Given the description of an element on the screen output the (x, y) to click on. 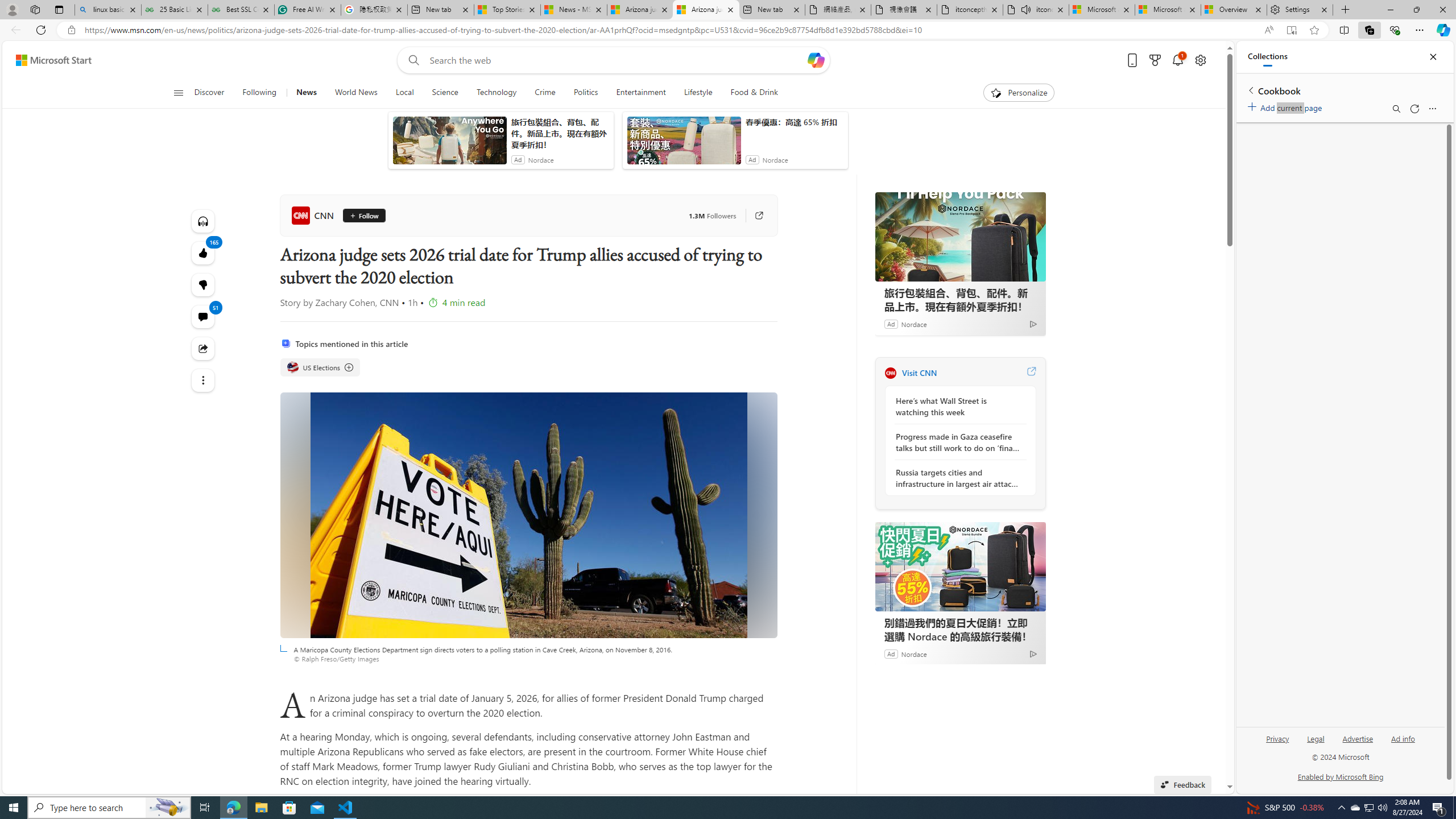
Technology (496, 92)
Ad info (1402, 738)
Top Stories - MSN (507, 9)
itconcepthk.com/projector_solutions.mp4 (969, 9)
Local (403, 92)
Overview (1233, 9)
